Given the description of an element on the screen output the (x, y) to click on. 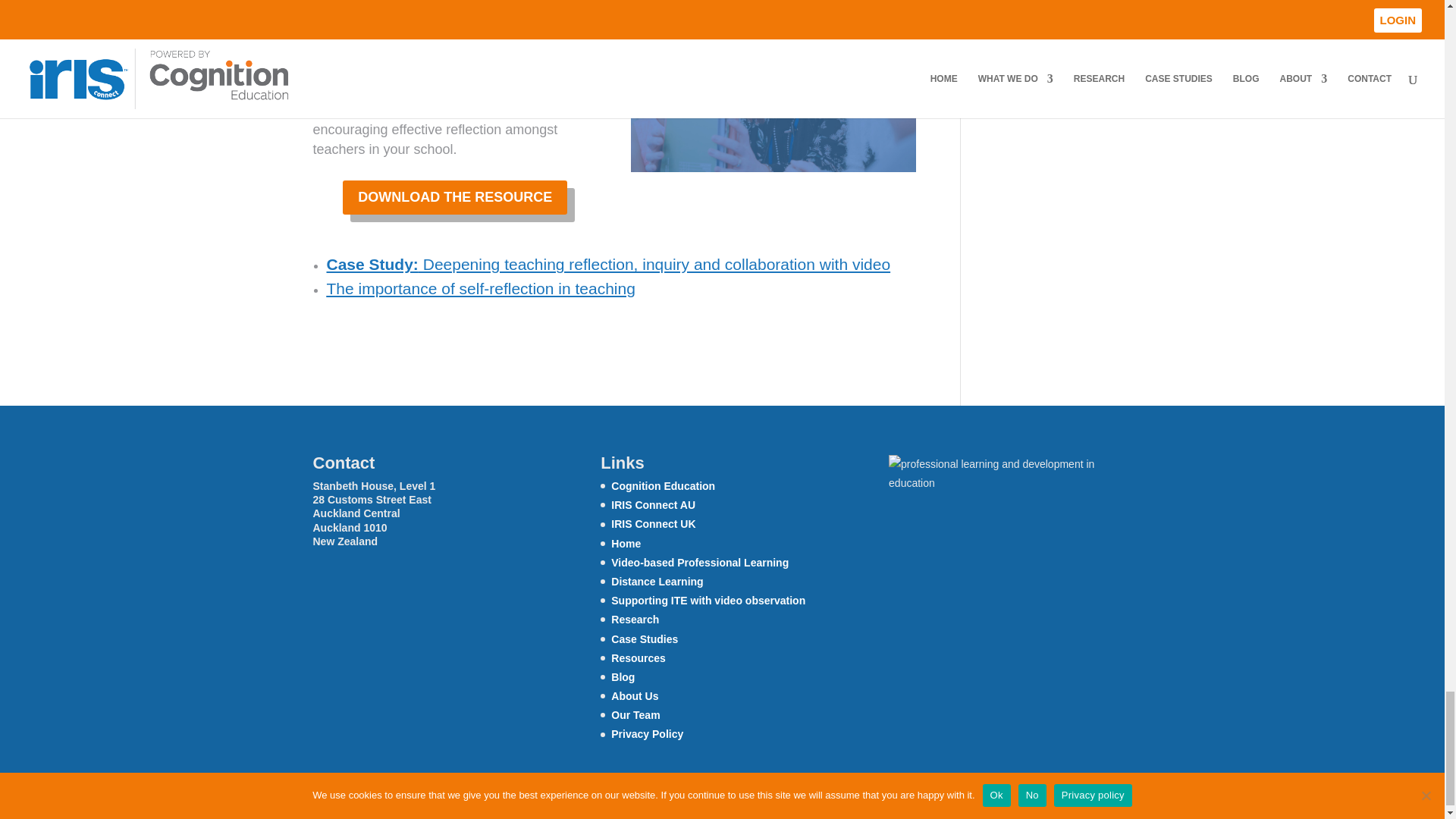
DOWNLOAD THE RESOURCE (454, 197)
The importance of self-reflection in teaching (480, 288)
